Given the description of an element on the screen output the (x, y) to click on. 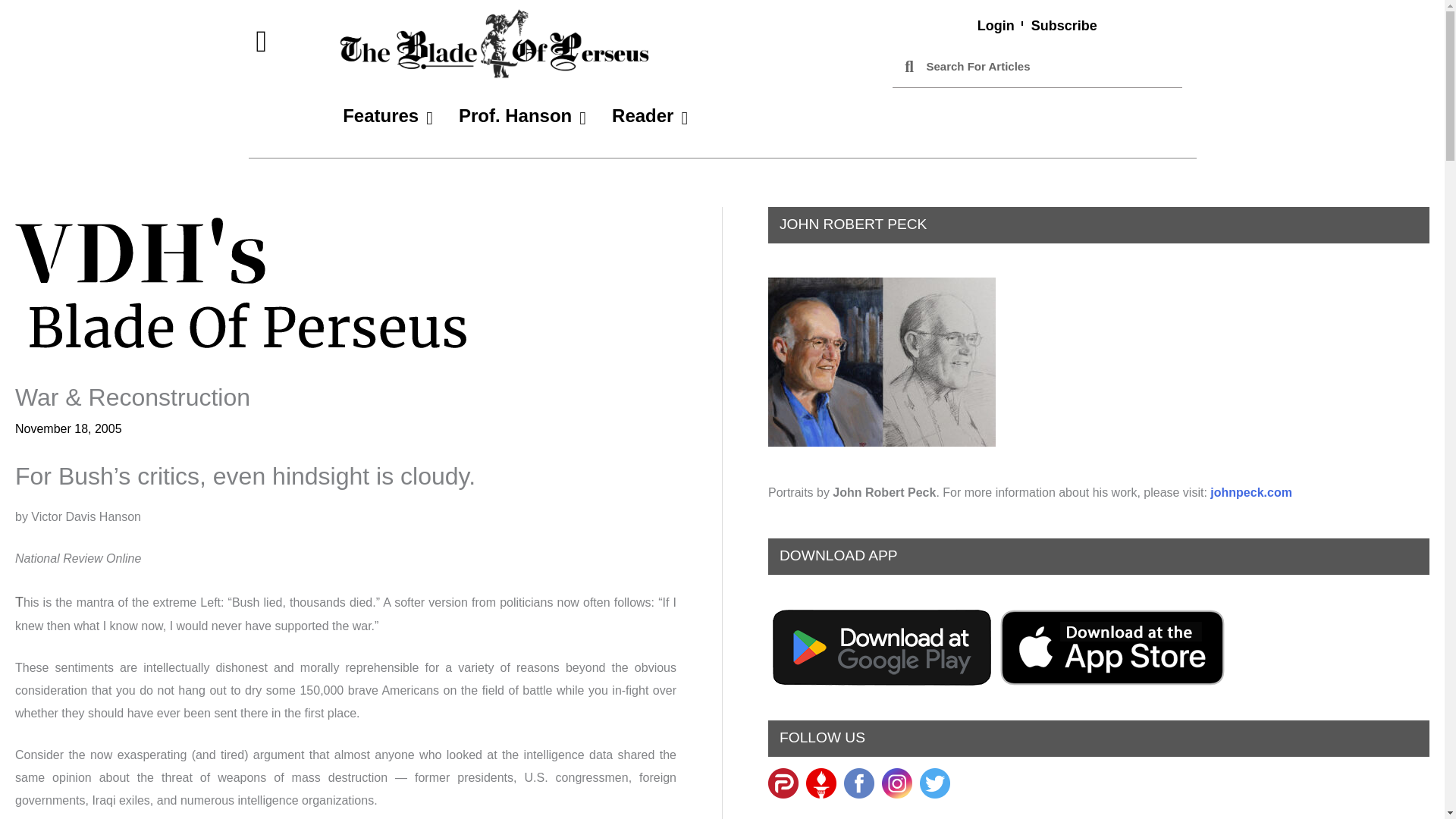
Prof. Hanson (521, 116)
Features (387, 116)
Subscribe (1064, 25)
Login (996, 25)
Reader (649, 116)
